Given the description of an element on the screen output the (x, y) to click on. 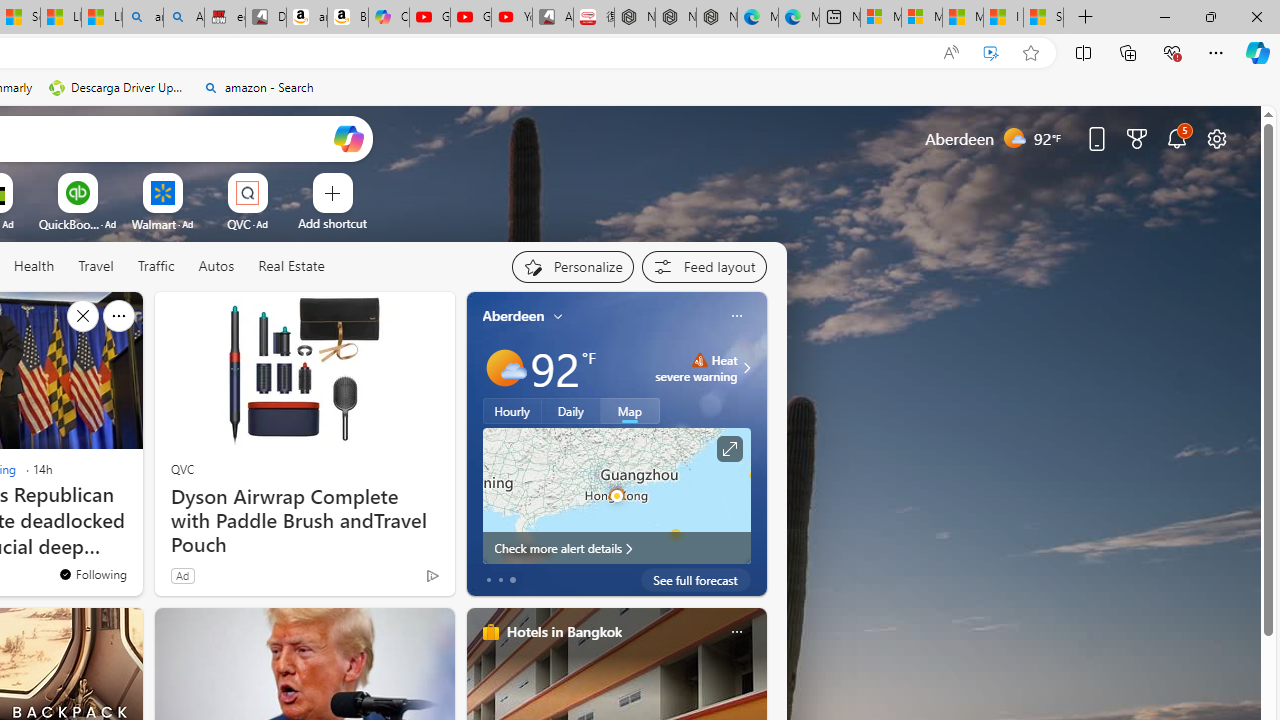
Travel (95, 267)
hotels-header-icon (490, 632)
Collections (1128, 52)
Hotels in Bangkok (563, 631)
New tab (840, 17)
Minimize (1164, 16)
Copilot (388, 17)
tab-0 (488, 579)
Gloom - YouTube (470, 17)
Travel (95, 265)
Add a site (332, 223)
amazon.in/dp/B0CX59H5W7/?tag=gsmcom05-21 (306, 17)
tab-2 (511, 579)
QVC (182, 468)
